Given the description of an element on the screen output the (x, y) to click on. 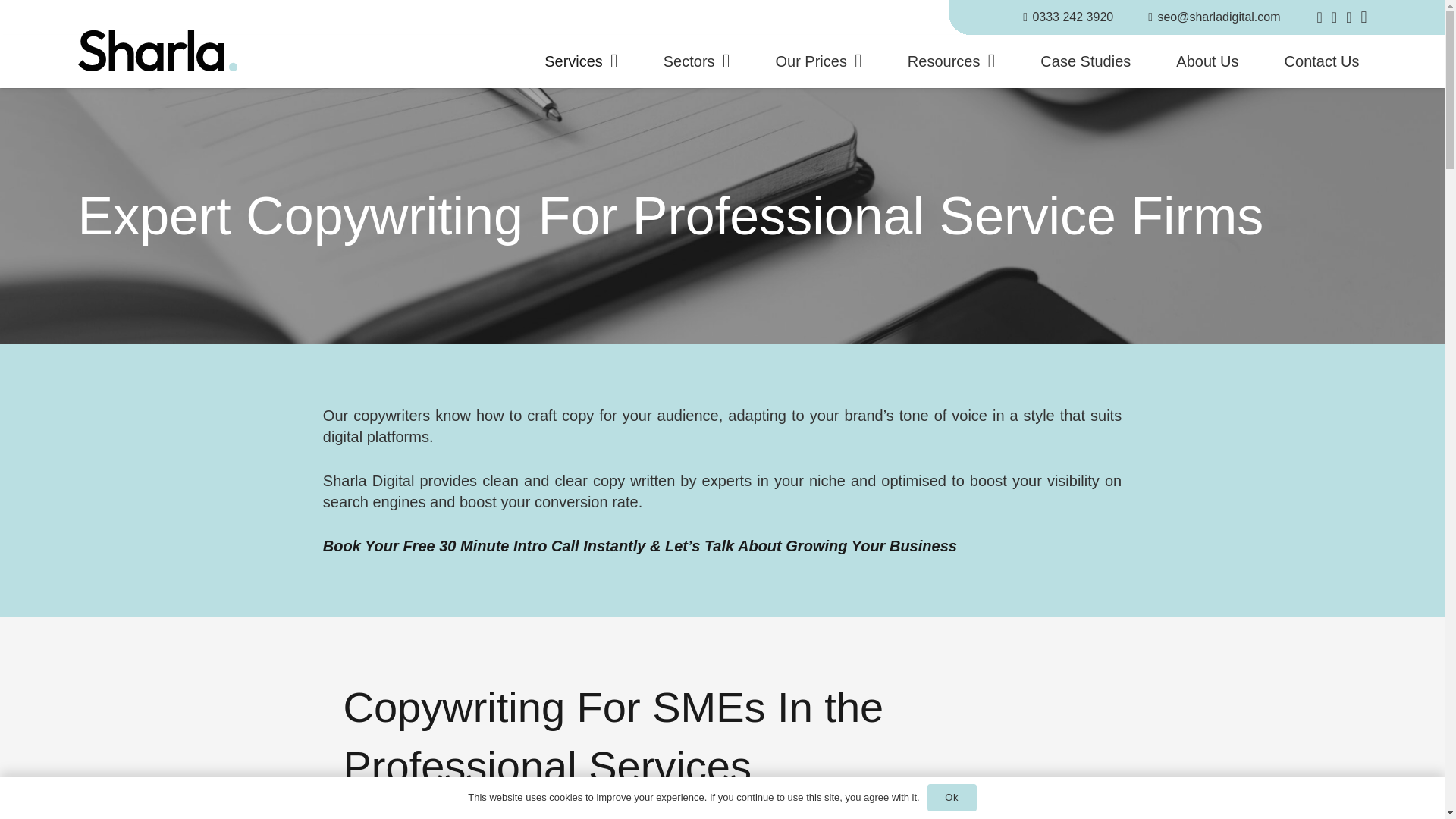
About Us (1206, 61)
Resources (951, 61)
Our Prices (817, 61)
Contact Us (1321, 61)
Services (580, 61)
Case Studies (1085, 61)
0333 242 3920 (1068, 16)
Sectors (696, 61)
